Given the description of an element on the screen output the (x, y) to click on. 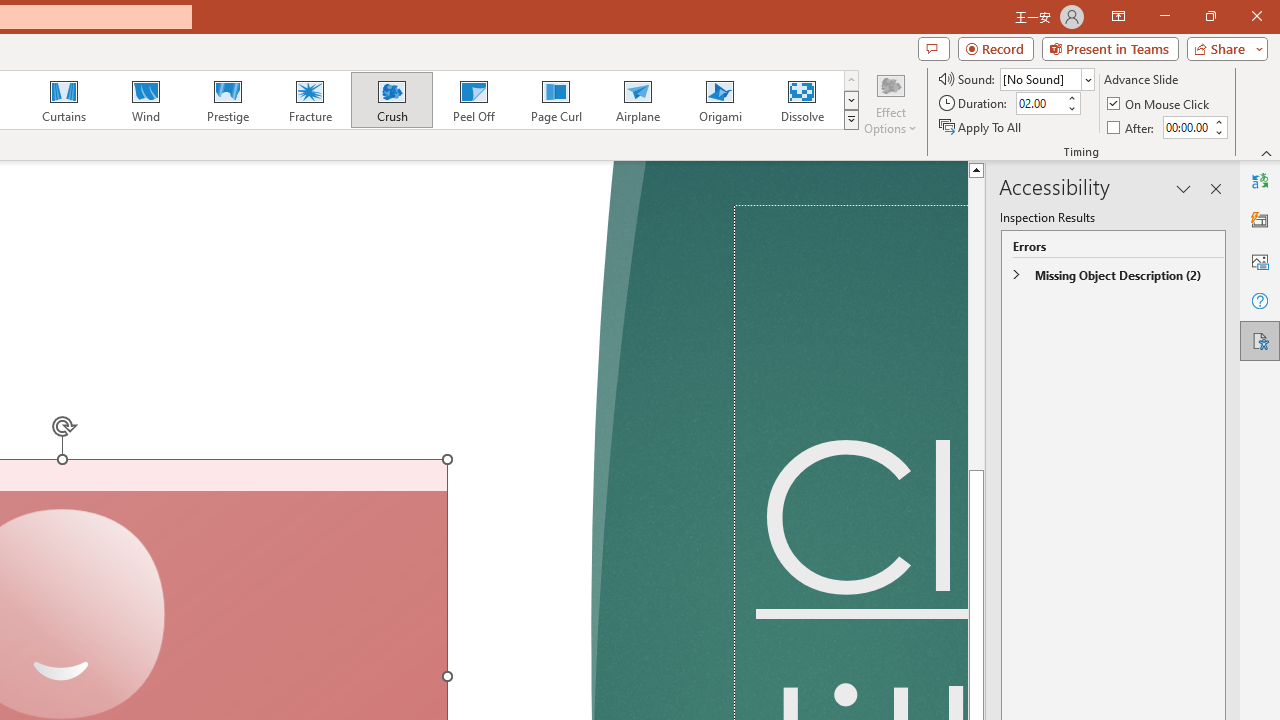
Origami (719, 100)
Prestige (227, 100)
Effect Options (890, 102)
Wind (145, 100)
